Given the description of an element on the screen output the (x, y) to click on. 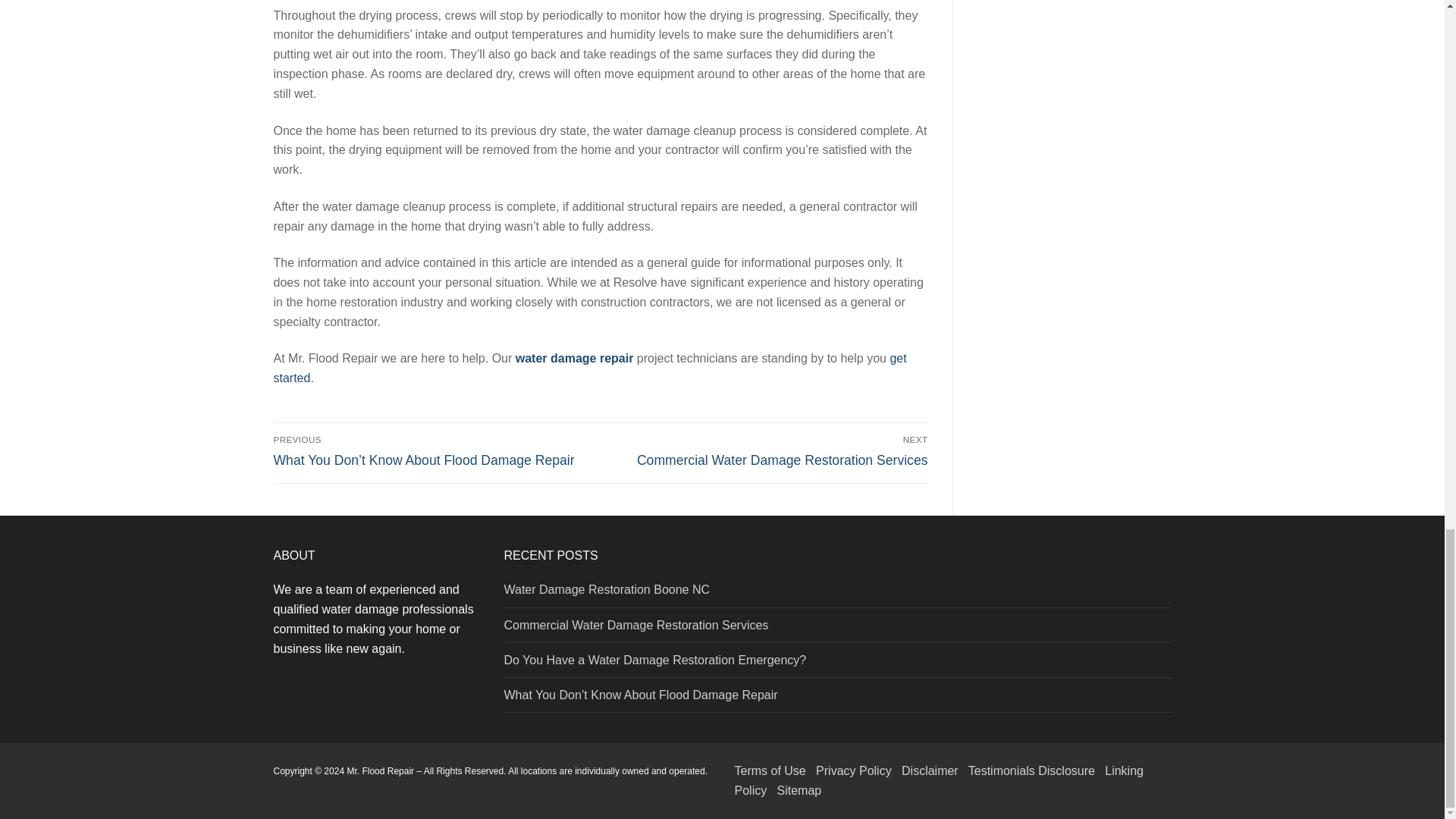
get started (767, 450)
water damage repair (589, 368)
